Given the description of an element on the screen output the (x, y) to click on. 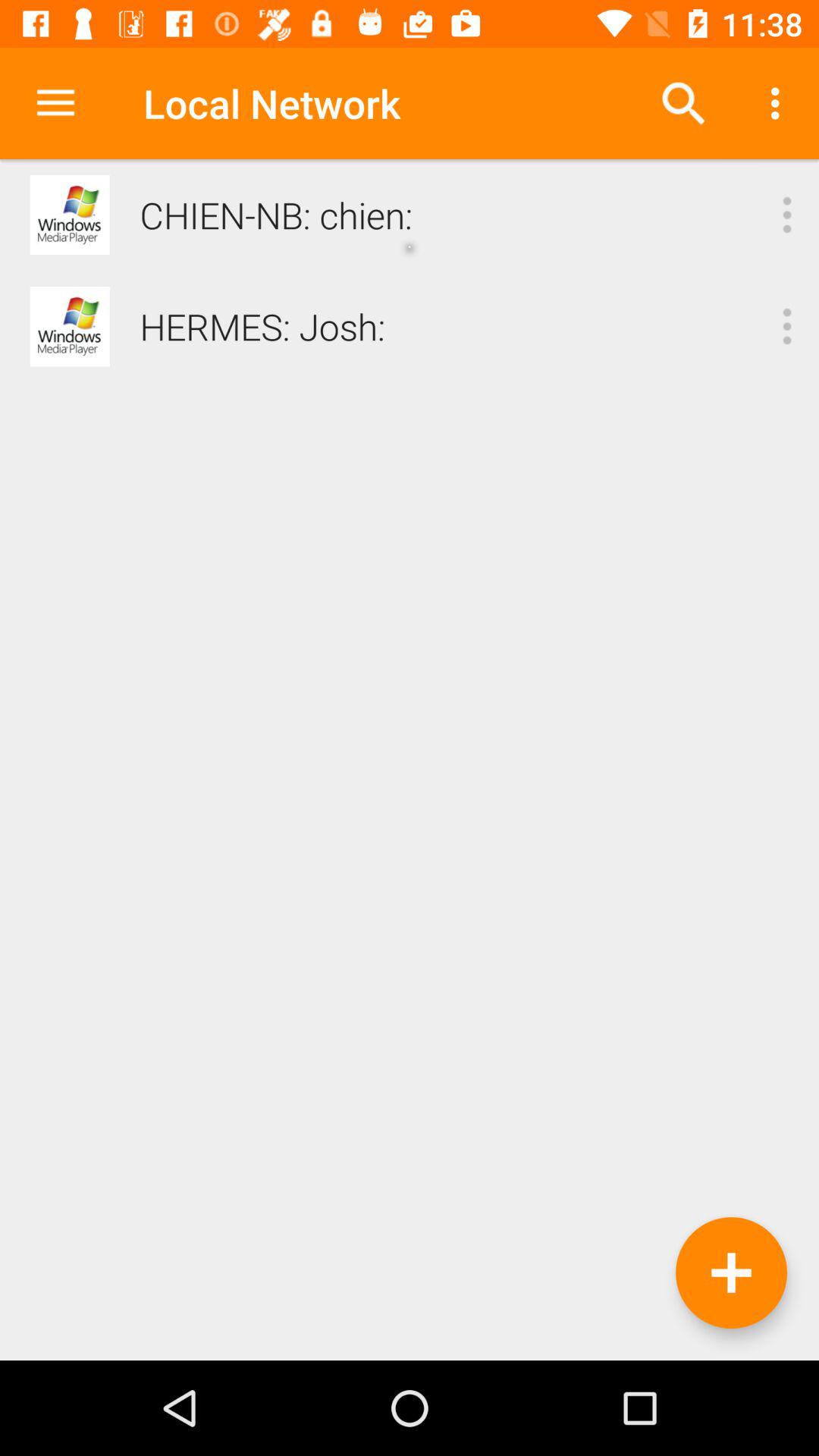
adds local network (731, 1272)
